Given the description of an element on the screen output the (x, y) to click on. 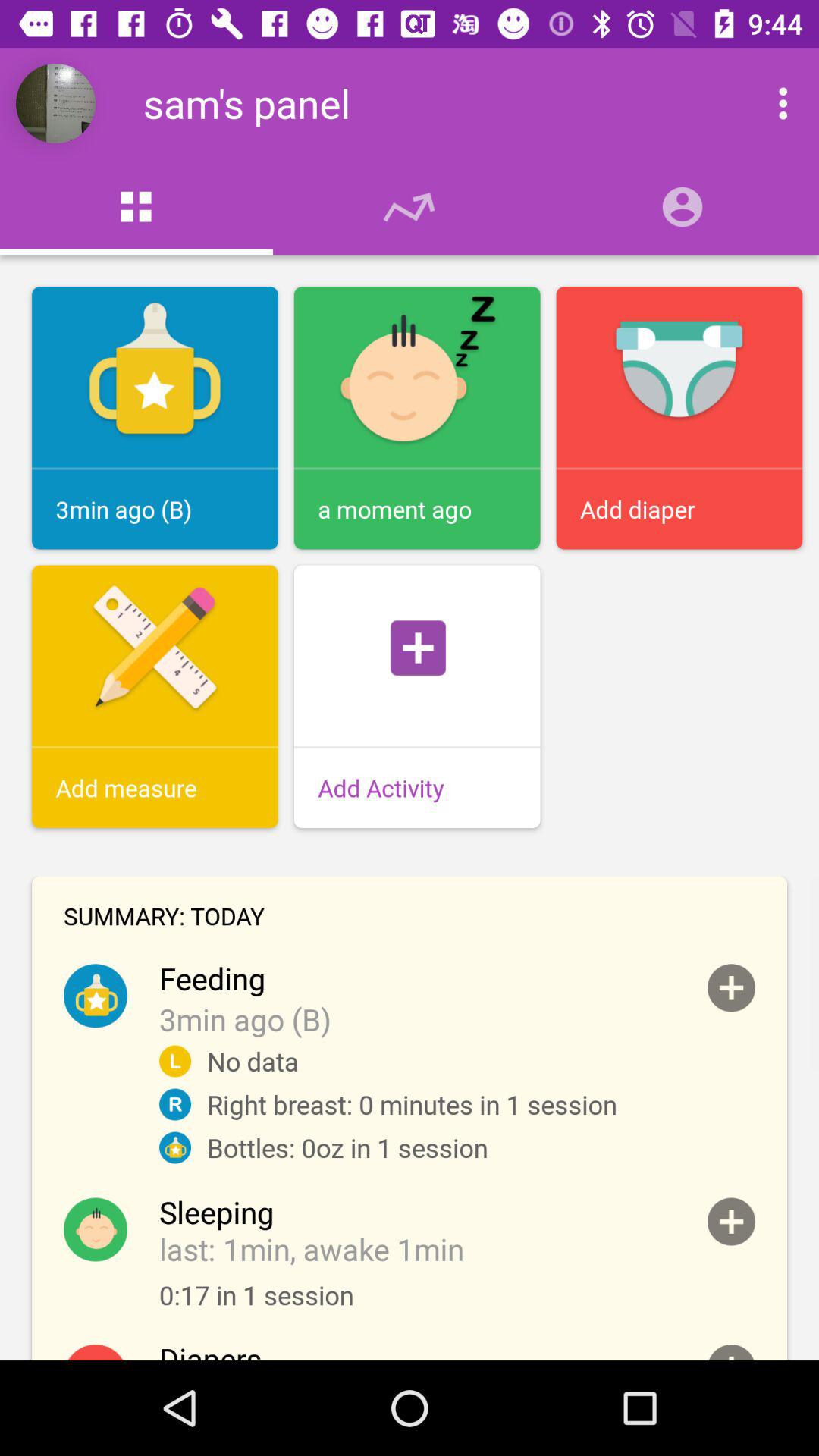
more details (731, 987)
